Given the description of an element on the screen output the (x, y) to click on. 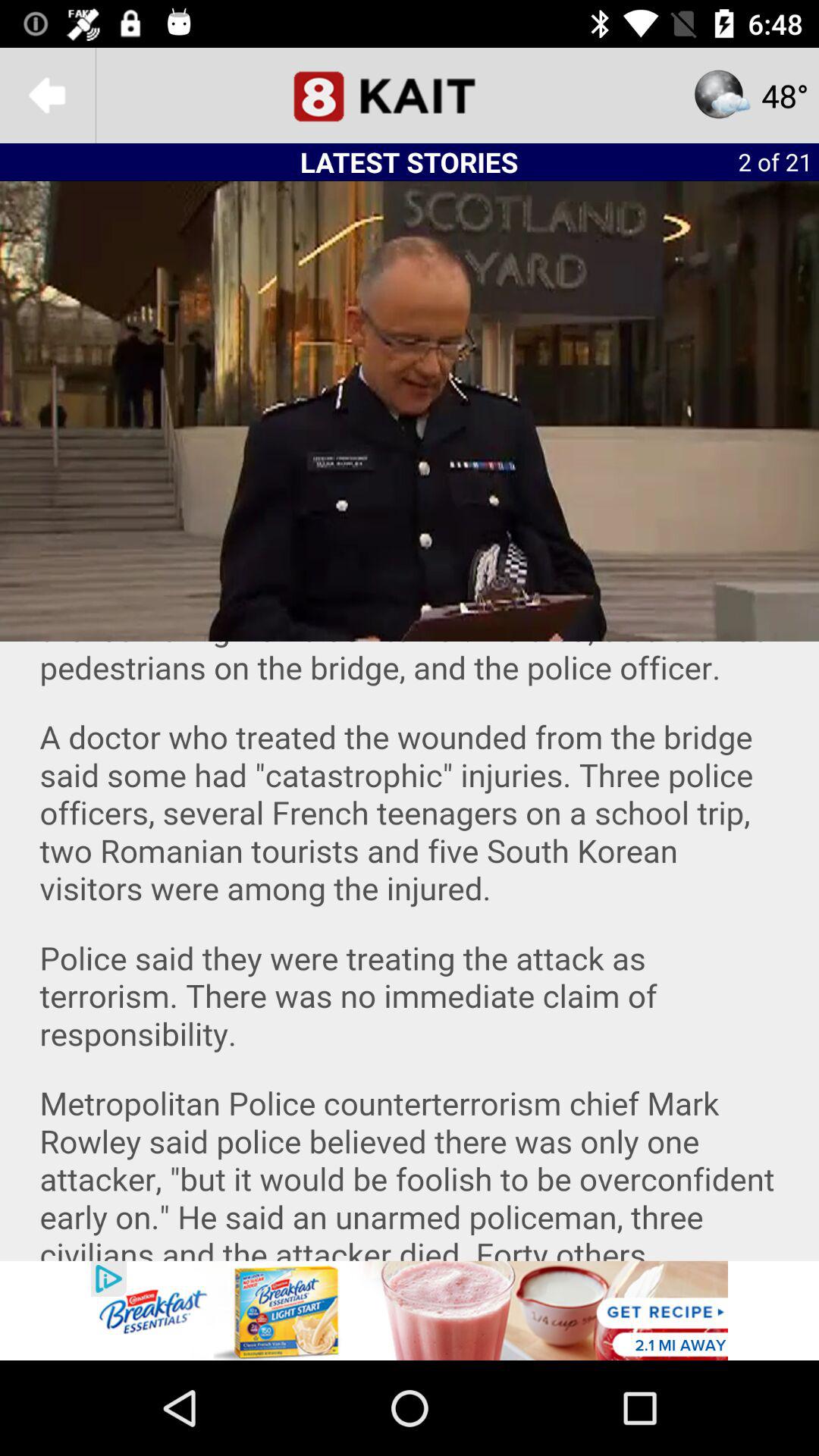
go back (47, 95)
